Given the description of an element on the screen output the (x, y) to click on. 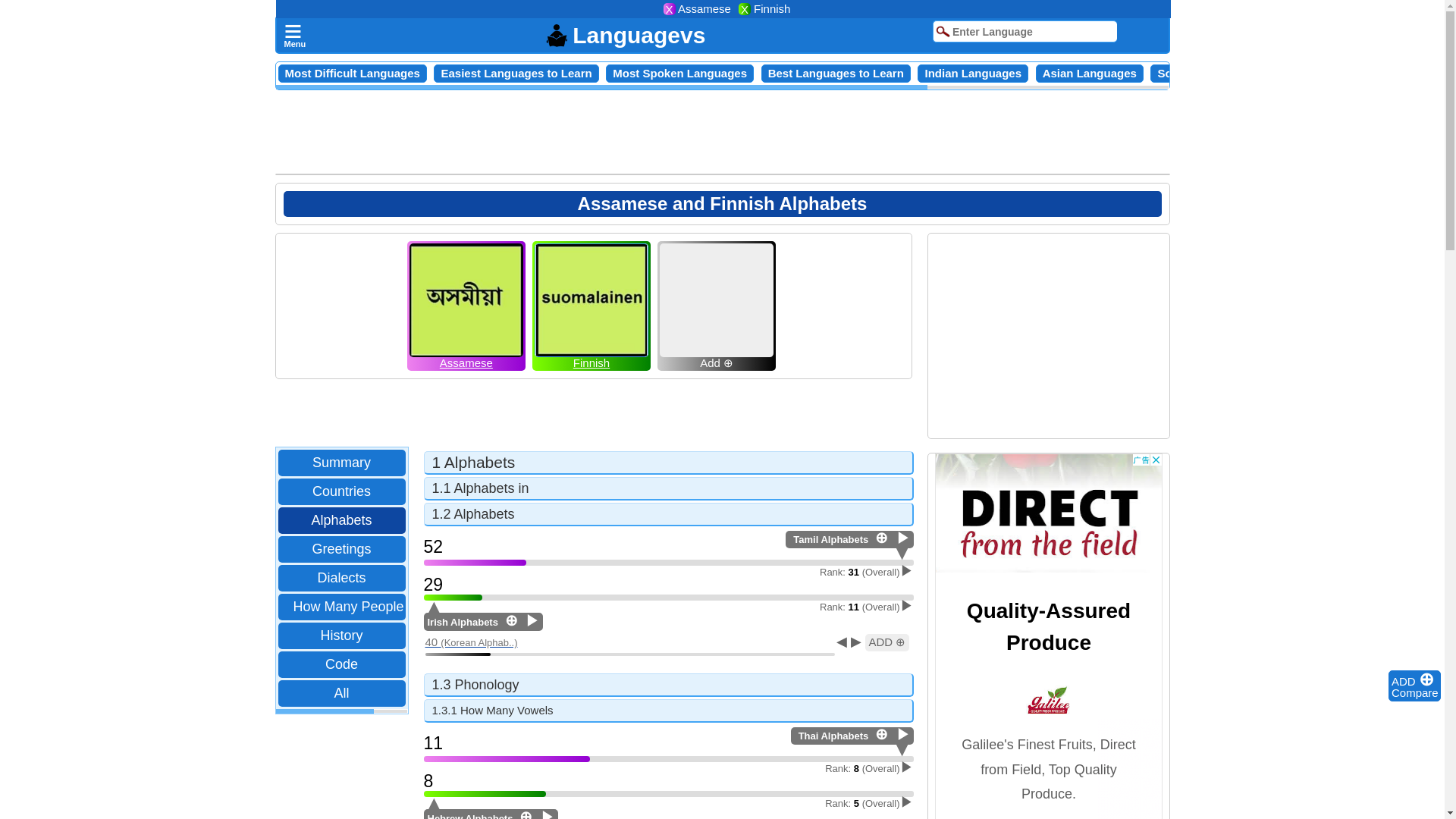
Best Languages to Learn (836, 72)
Most Difficult Languages (352, 72)
Indian Languages (973, 72)
Finnish (591, 360)
Asian Languages (1089, 72)
Easiest Languages to Learn (516, 72)
Most Spoken Languages (679, 72)
South American Languages (1232, 72)
Alphabets (340, 520)
Summary (341, 462)
History (341, 635)
Assamese (466, 360)
Dialects (340, 578)
Languagevs (625, 35)
How Many People Speak (368, 606)
